Given the description of an element on the screen output the (x, y) to click on. 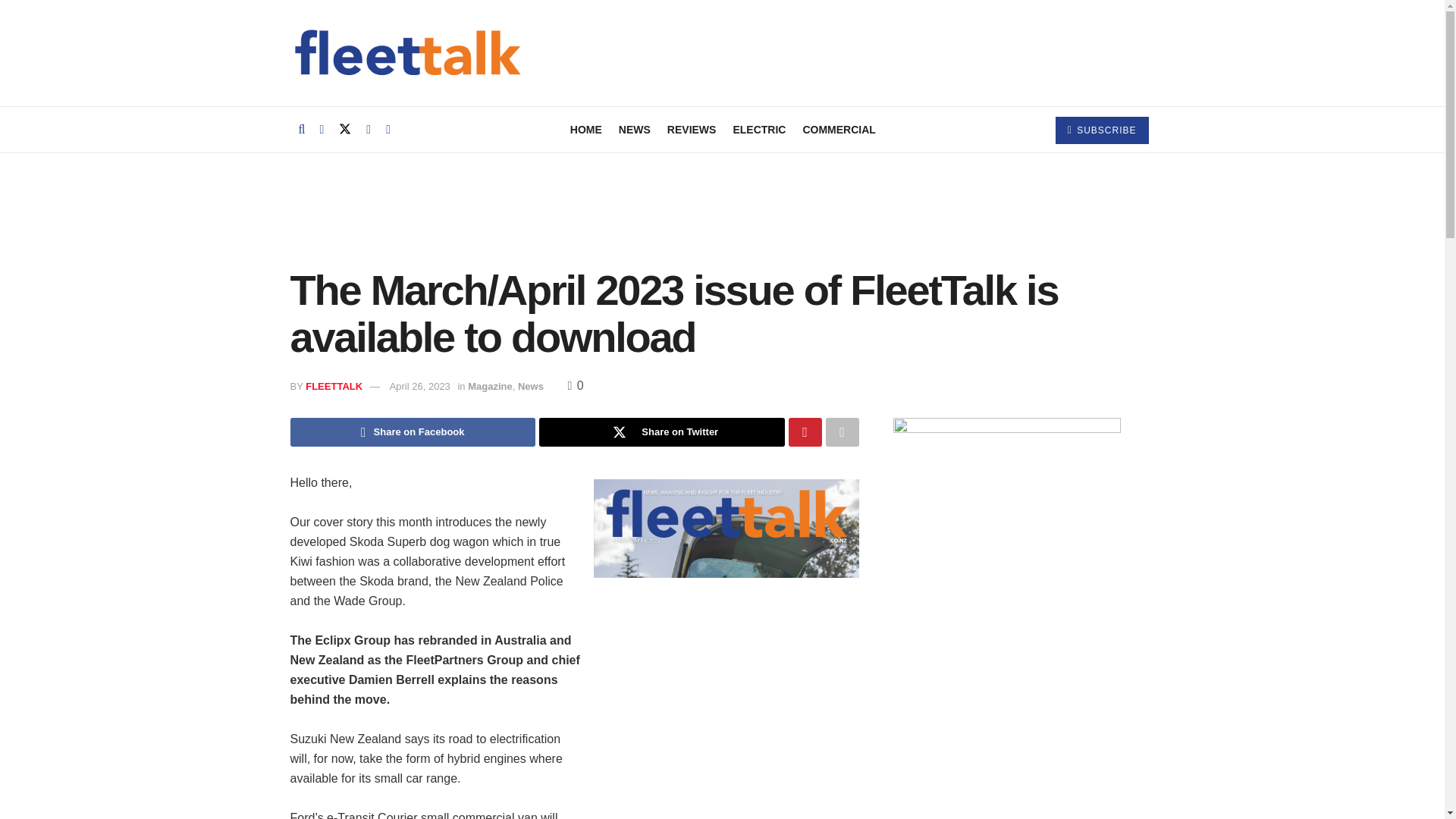
ELECTRIC (759, 129)
REVIEWS (691, 129)
FLEETTALK (333, 386)
News (530, 386)
HOME (586, 129)
Share on Twitter (661, 431)
Magazine (489, 386)
SUBSCRIBE (1101, 130)
NEWS (634, 129)
Share on Facebook (412, 431)
